Given the description of an element on the screen output the (x, y) to click on. 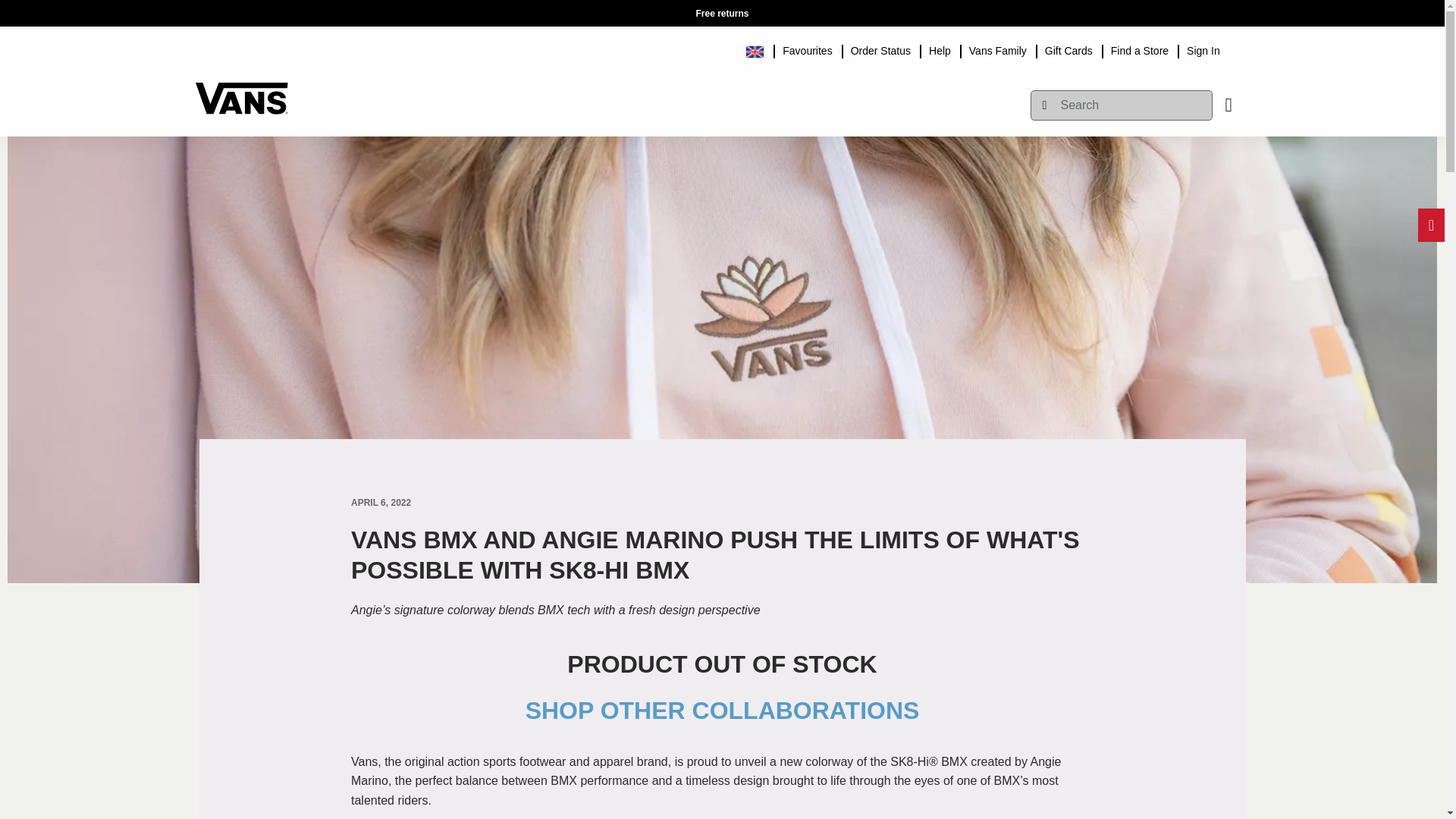
Order Status (880, 48)
Find a Store (1139, 48)
Skip to main content (202, 7)
Find a Store (1139, 48)
United-Kingdom (759, 48)
Gift Cards (1068, 48)
Vans Family (997, 48)
Gift Cards (1068, 48)
Help (939, 48)
Help (939, 48)
Sign In (1202, 48)
Order Status (880, 48)
Vans (241, 91)
Favourites (807, 48)
Vans Family (997, 48)
